Given the description of an element on the screen output the (x, y) to click on. 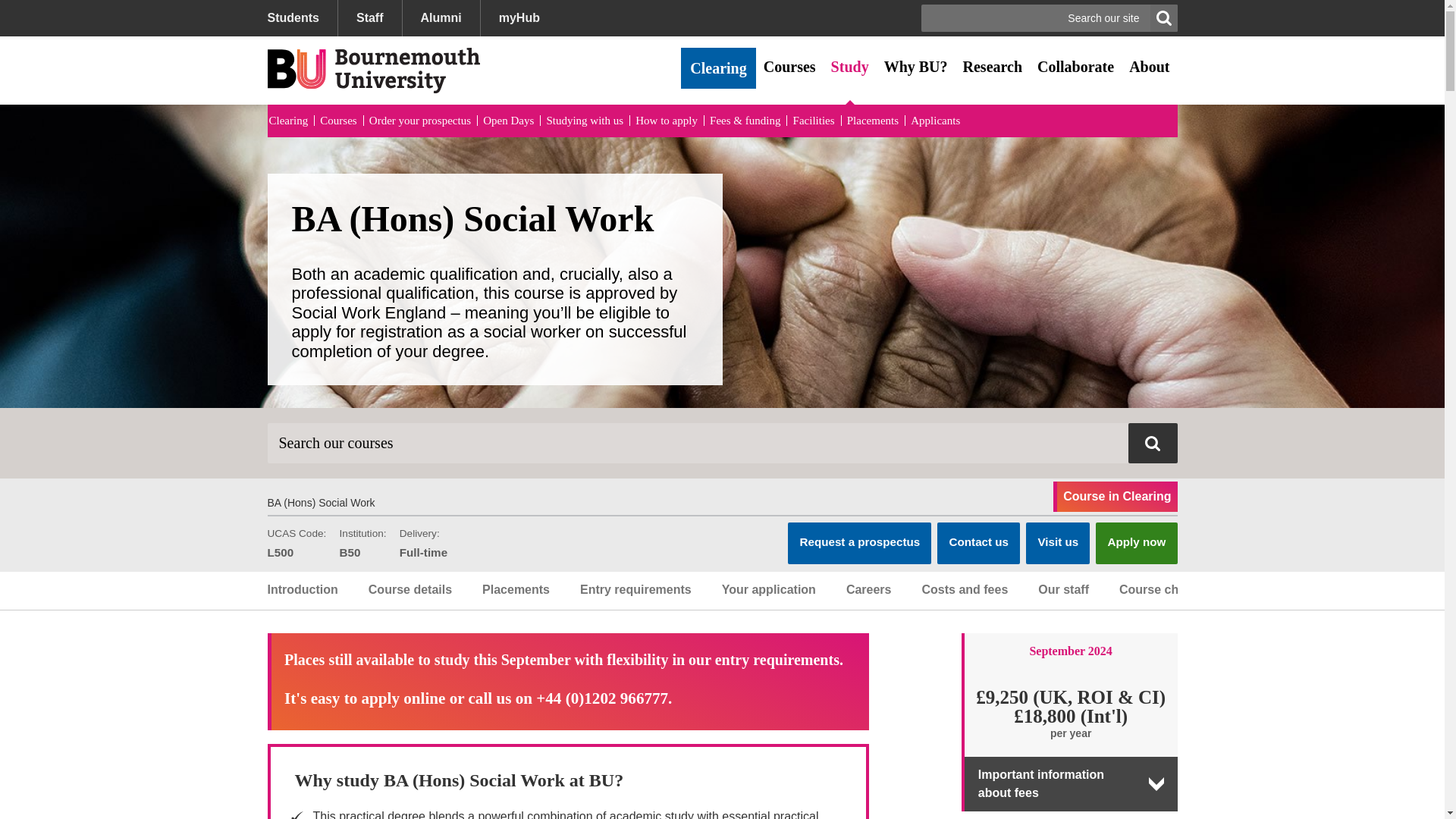
Placements (872, 120)
Studying with us (584, 120)
Alumni (440, 18)
Contact us (978, 543)
Staff (369, 18)
How to apply (665, 120)
Why BU? (915, 66)
Clearing (718, 67)
Introduction (309, 590)
Enter the terms you wish to search for. (721, 443)
